Given the description of an element on the screen output the (x, y) to click on. 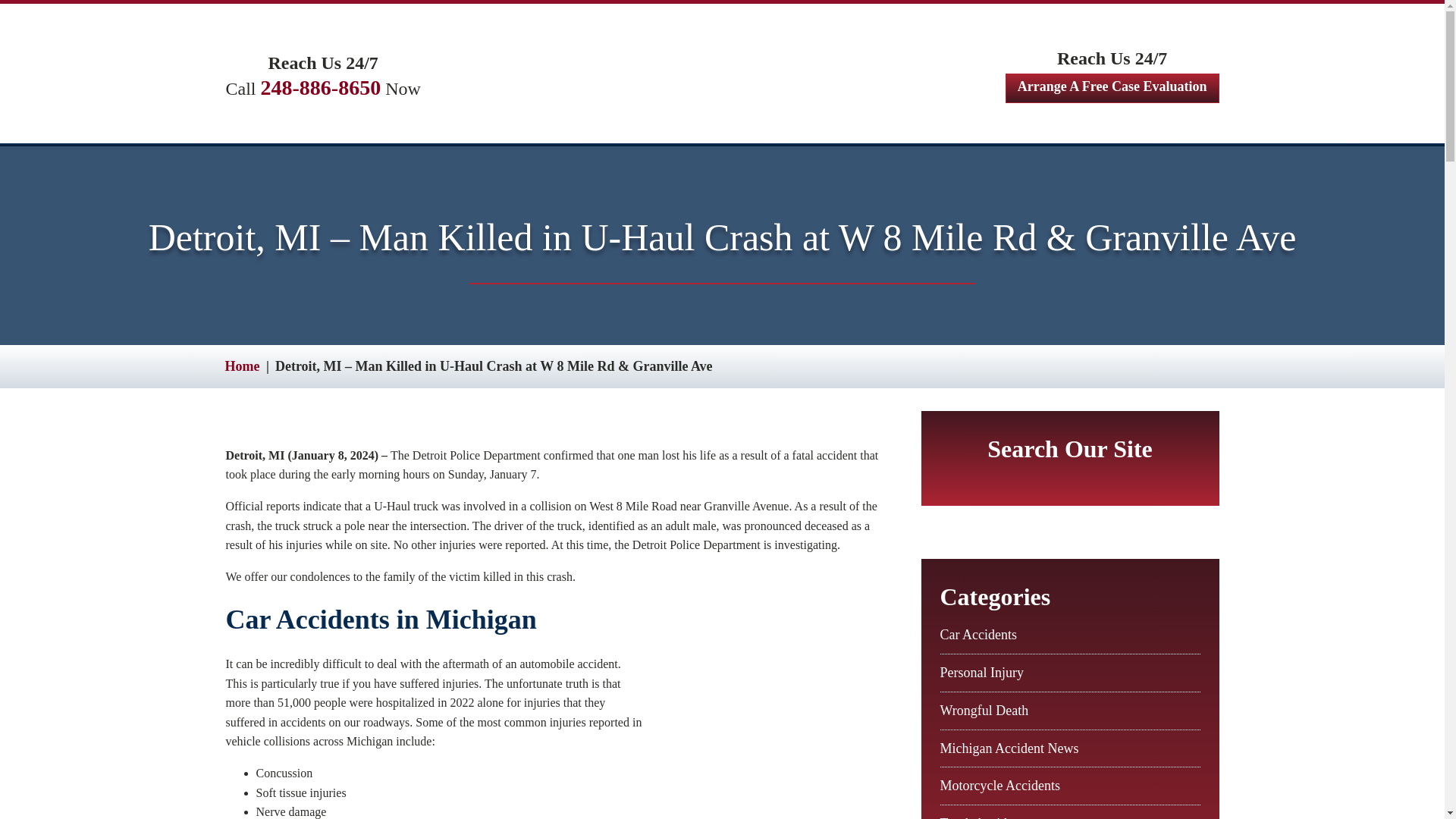
Motorcycle Accidents (999, 785)
Arrange A Free Case Evaluation (1113, 88)
248-886-8650 (320, 87)
Personal Injury (981, 672)
Truck Accidents (984, 817)
Car Accidents (978, 634)
Breadcrumb link to Home (241, 365)
Home (241, 365)
Michigan Accident News (1009, 748)
Wrongful Death (984, 710)
